Given the description of an element on the screen output the (x, y) to click on. 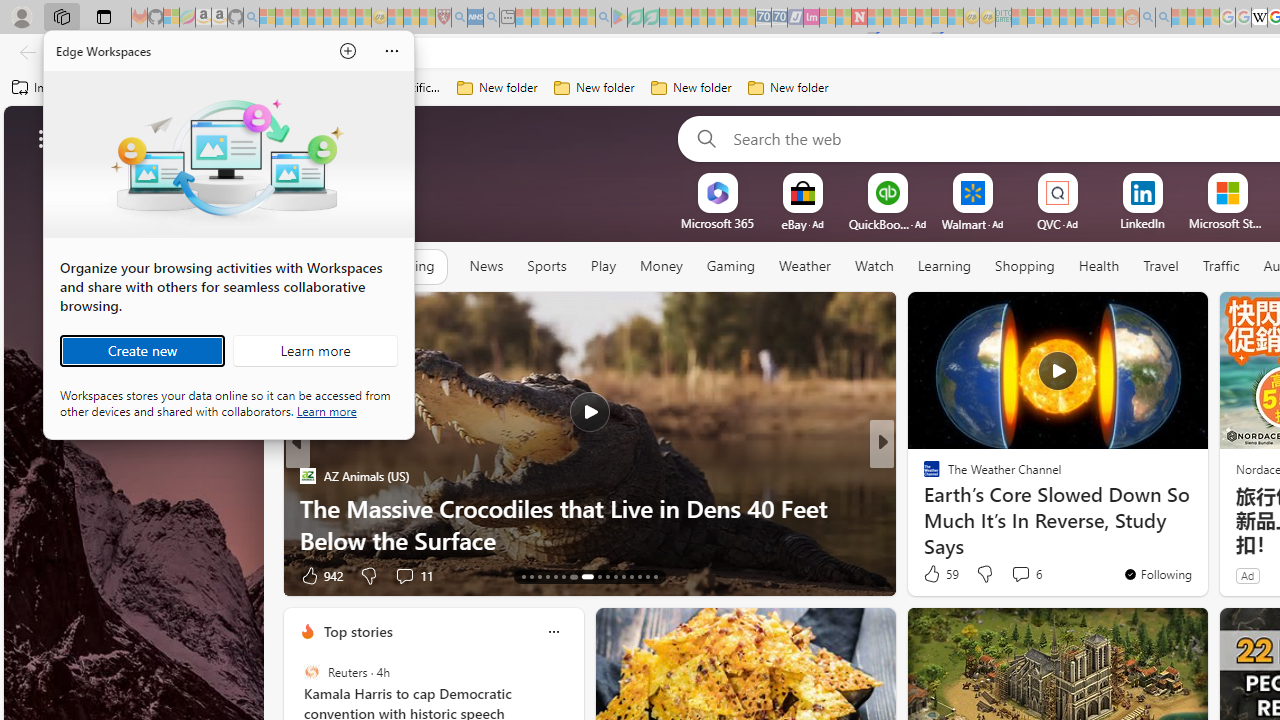
Sports (546, 265)
Travel (1160, 267)
Travel (1160, 265)
Traffic (1220, 267)
Shopping (1025, 265)
View comments 9 Comment (410, 574)
Learn more about Workspaces (315, 350)
AutomationID: tab-23 (614, 576)
View comments 4 Comment (1014, 575)
Bluey: Let's Play! - Apps on Google Play - Sleeping (619, 17)
